Given the description of an element on the screen output the (x, y) to click on. 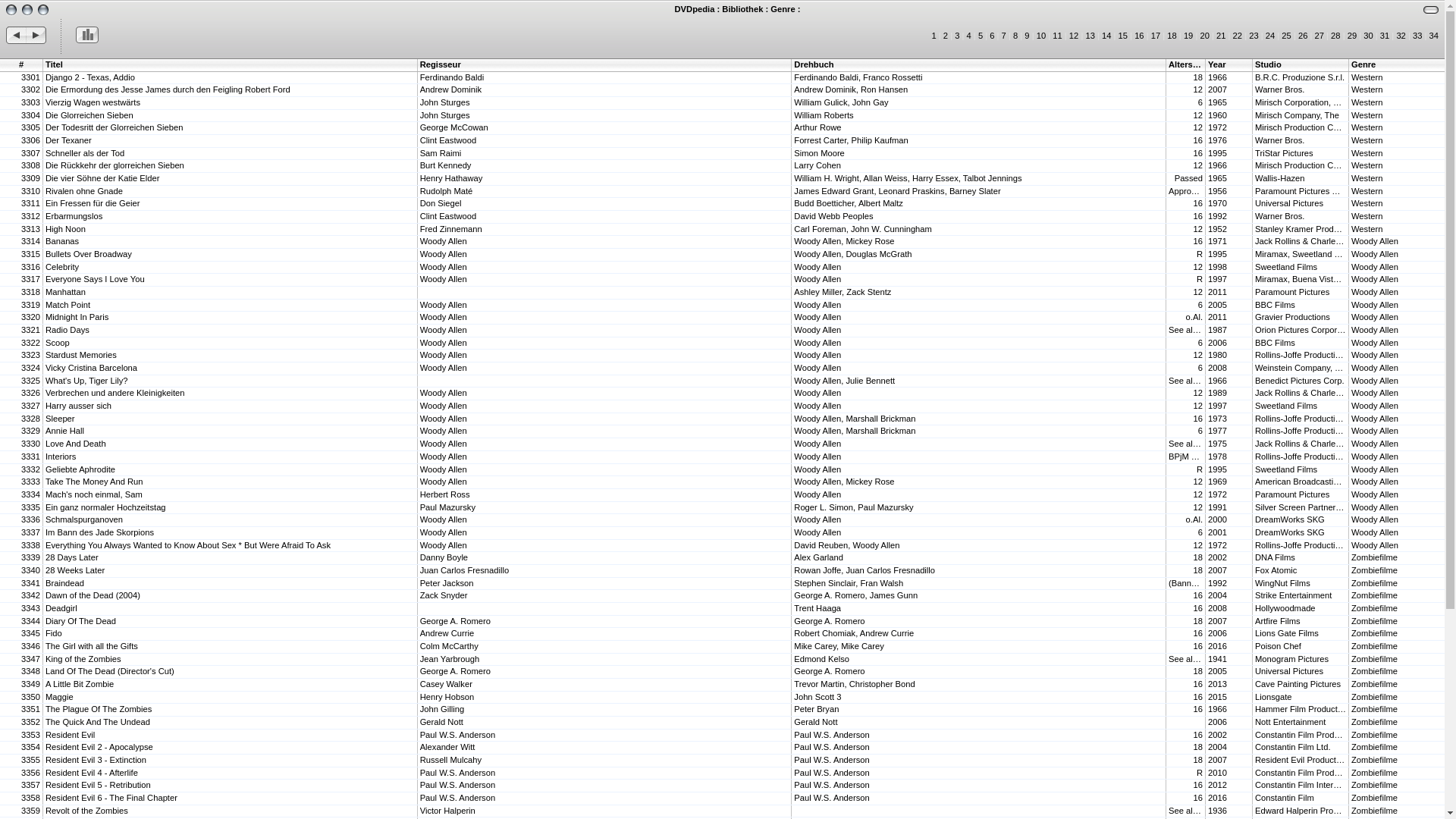
1 Element type: text (933, 35)
22 Element type: text (1237, 35)
8 Element type: text (1015, 35)
16 Element type: text (1138, 35)
17 Element type: text (1155, 35)
15 Element type: text (1122, 35)
34 Element type: text (1433, 35)
12 Element type: text (1073, 35)
30 Element type: text (1367, 35)
3 Element type: text (956, 35)
3343 Deadgirl Trent Haaga 16 2008 Hollywoodmade Zombiefilme Element type: text (722, 608)
29 Element type: text (1351, 35)
27 Element type: text (1319, 35)
33 Element type: text (1416, 35)
2 Element type: text (945, 35)
19 Element type: text (1187, 35)
7 Element type: text (1003, 35)
13 Element type: text (1089, 35)
32 Element type: text (1400, 35)
31 Element type: text (1384, 35)
23 Element type: text (1253, 35)
26 Element type: text (1302, 35)
28 Element type: text (1334, 35)
20 Element type: text (1203, 35)
9 Element type: text (1026, 35)
25 Element type: text (1285, 35)
11 Element type: text (1056, 35)
6 Element type: text (991, 35)
10 Element type: text (1040, 35)
21 Element type: text (1220, 35)
5 Element type: text (980, 35)
18 Element type: text (1171, 35)
14 Element type: text (1105, 35)
4 Element type: text (968, 35)
24 Element type: text (1269, 35)
